Given the description of an element on the screen output the (x, y) to click on. 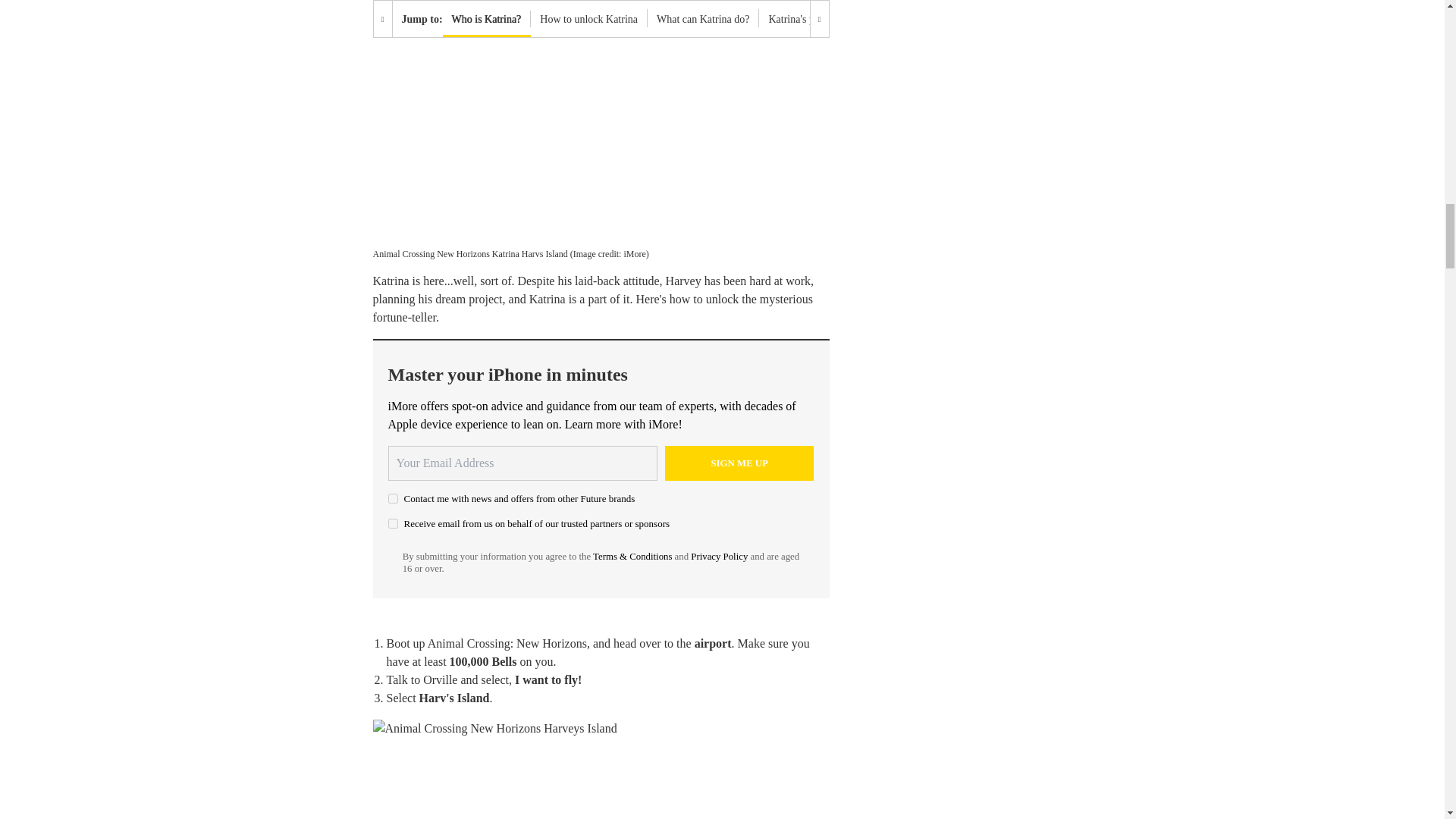
Sign me up (739, 462)
on (392, 498)
on (392, 523)
